Given the description of an element on the screen output the (x, y) to click on. 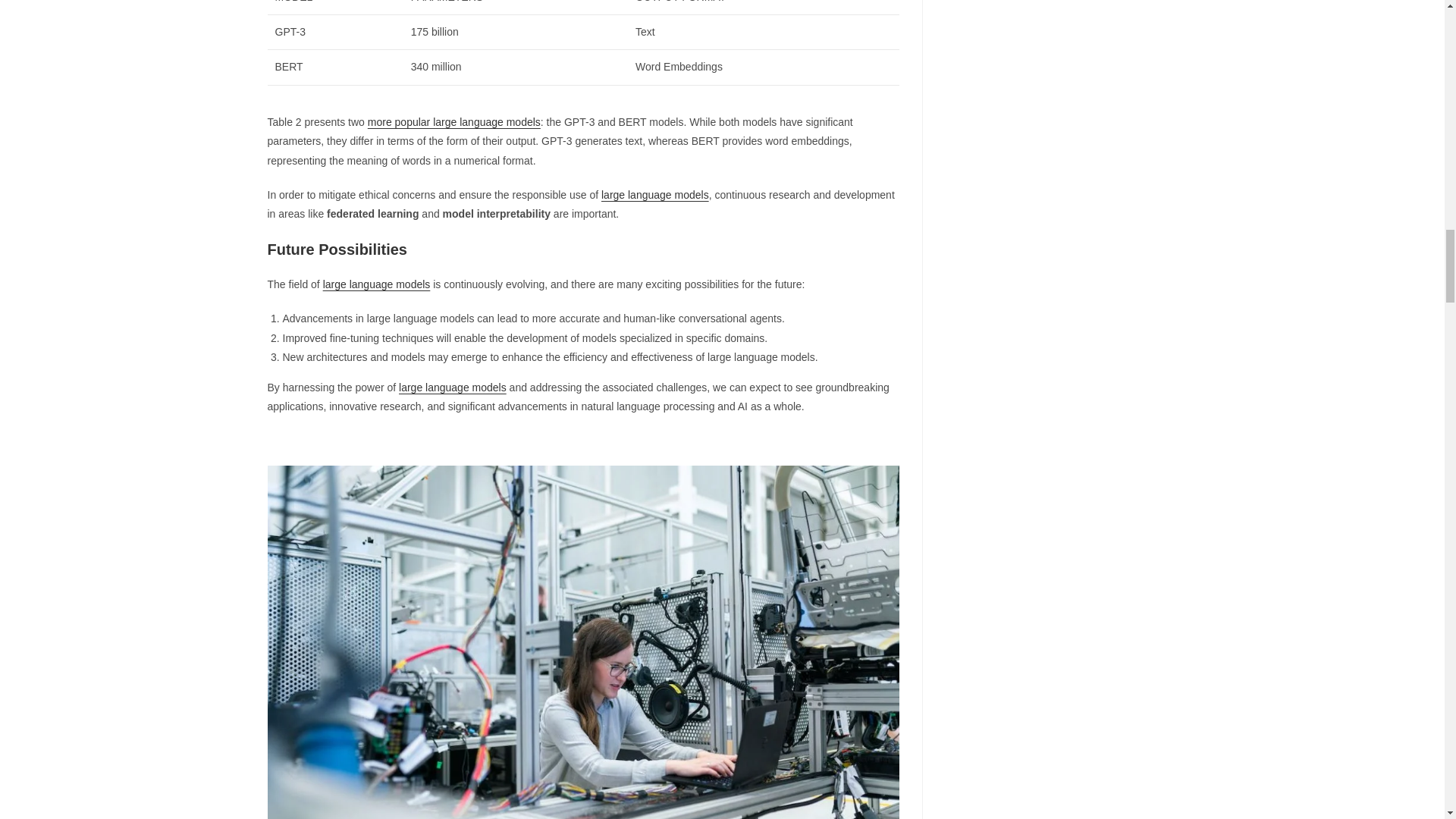
large language models (376, 284)
large language models (655, 194)
more popular large language models (454, 121)
large language models (452, 387)
